Given the description of an element on the screen output the (x, y) to click on. 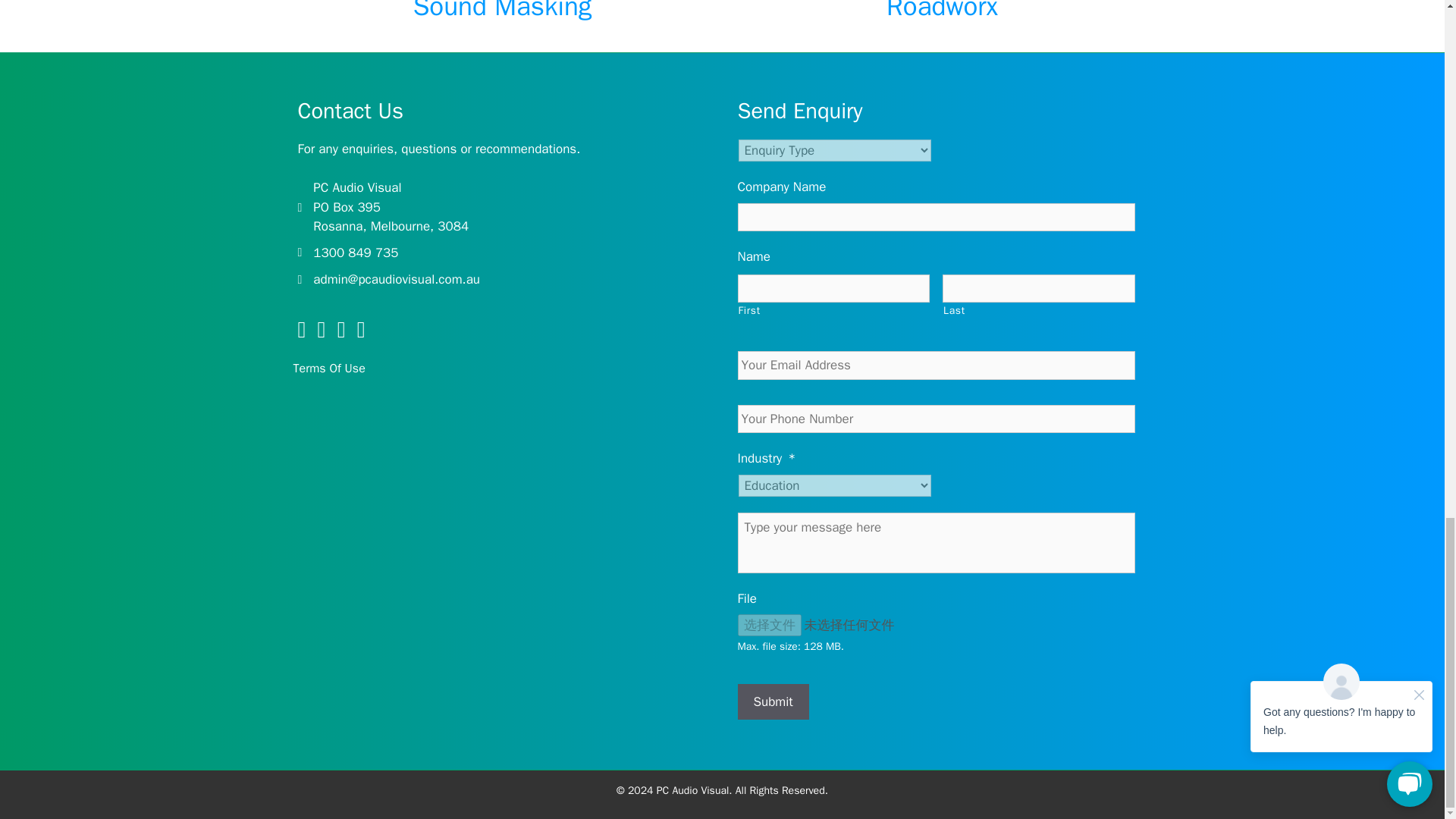
Sound Masking (502, 11)
Roadworx (941, 11)
Submit (772, 701)
